Given the description of an element on the screen output the (x, y) to click on. 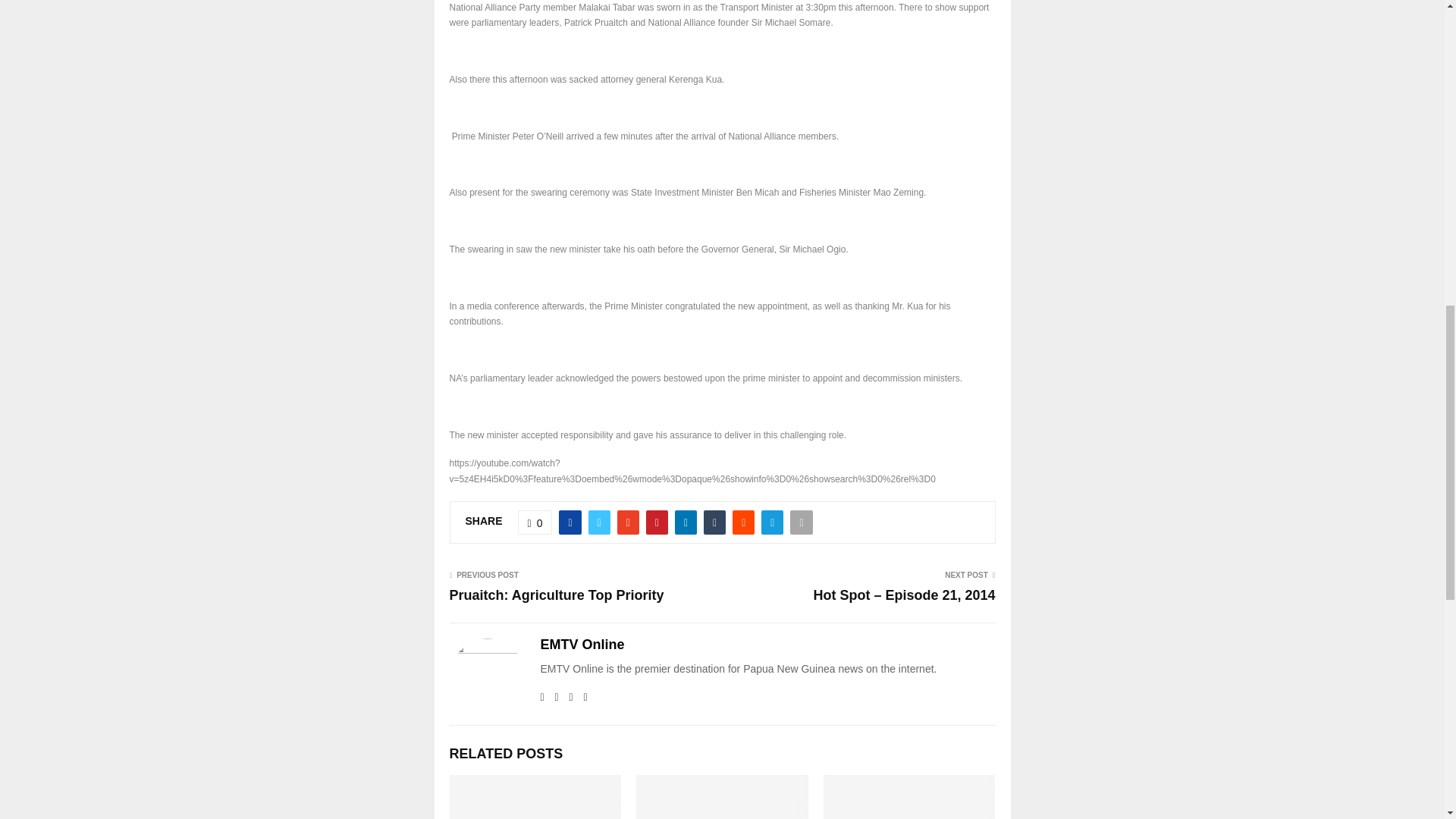
Like (535, 522)
